Given the description of an element on the screen output the (x, y) to click on. 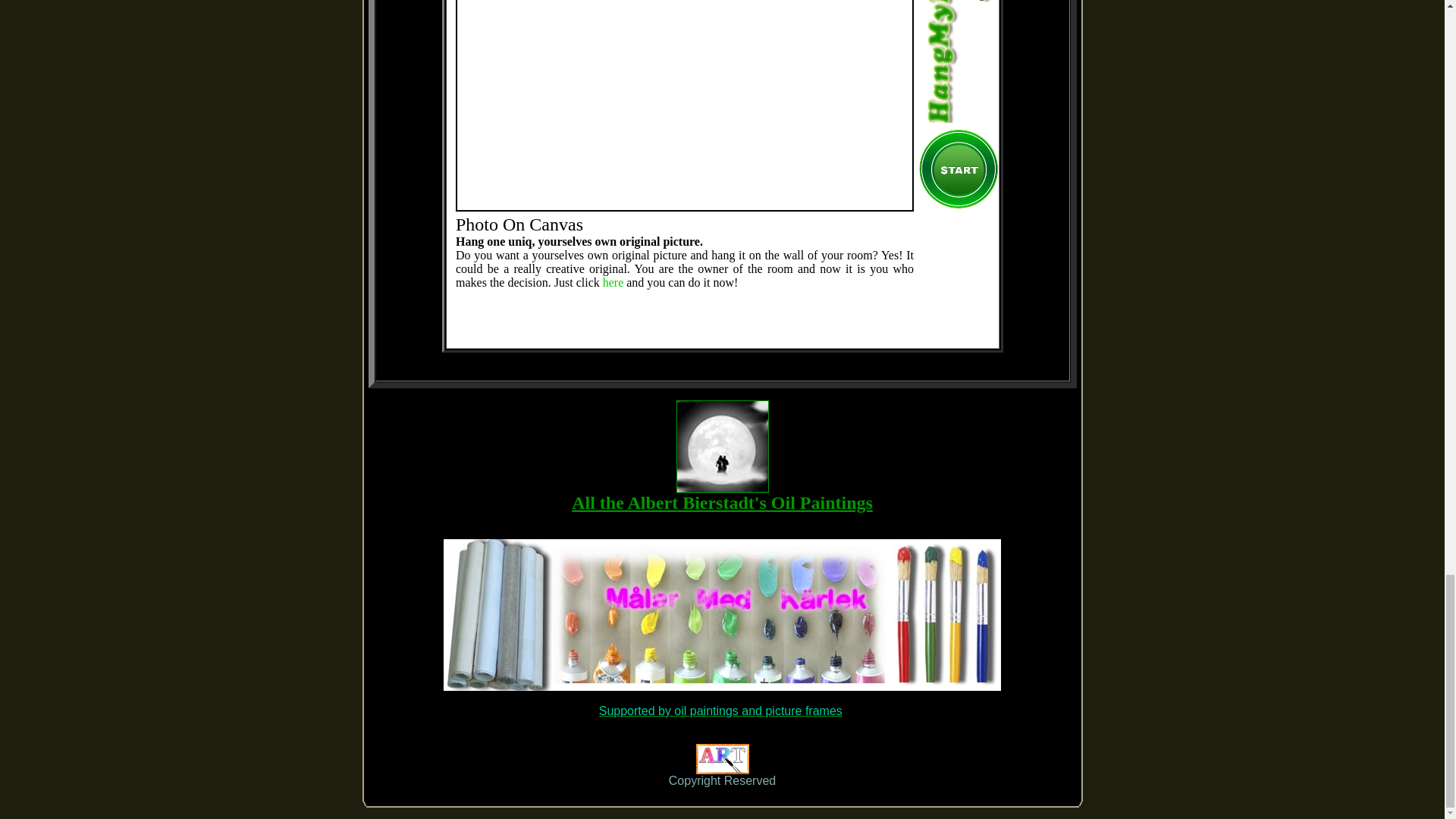
All the Albert Bierstadt's Oil Paintings (722, 502)
Supported by oil paintings and picture frames (720, 710)
